Given the description of an element on the screen output the (x, y) to click on. 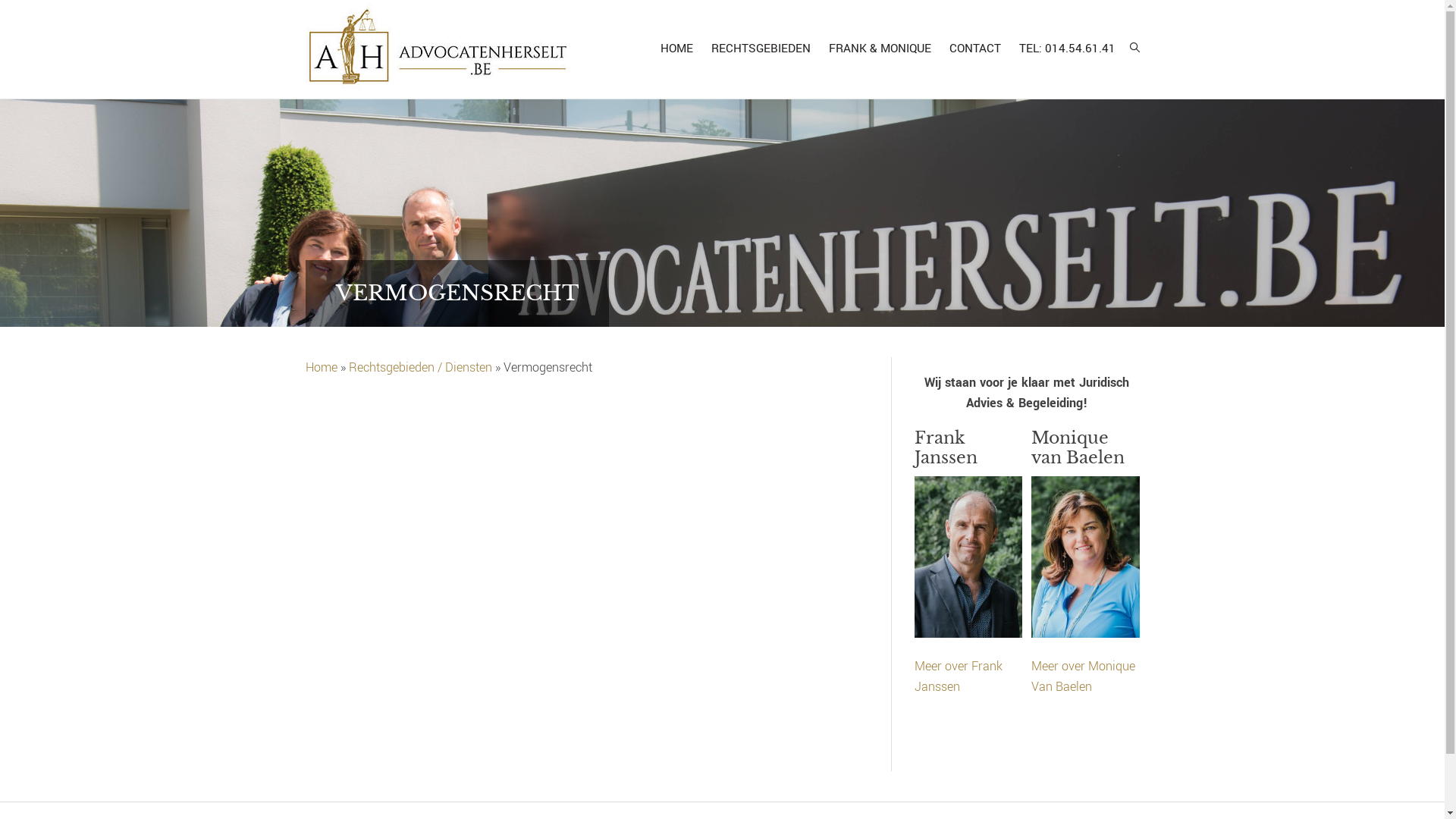
TEL: 014.54.61.41 Element type: text (1067, 48)
CONTACT Element type: text (974, 48)
ADVOCATENHERSELT.BE Element type: text (437, 48)
HOME Element type: text (675, 48)
Rechtsgebieden / Diensten Element type: text (420, 367)
Meer over Frank Janssen Element type: text (958, 676)
Meer over Monique Van Baelen Element type: text (1083, 676)
Spring naar de hoofdnavigatie Element type: text (0, 0)
Home Element type: text (320, 367)
FRANK & MONIQUE Element type: text (879, 48)
RECHTSGEBIEDEN Element type: text (760, 48)
